Given the description of an element on the screen output the (x, y) to click on. 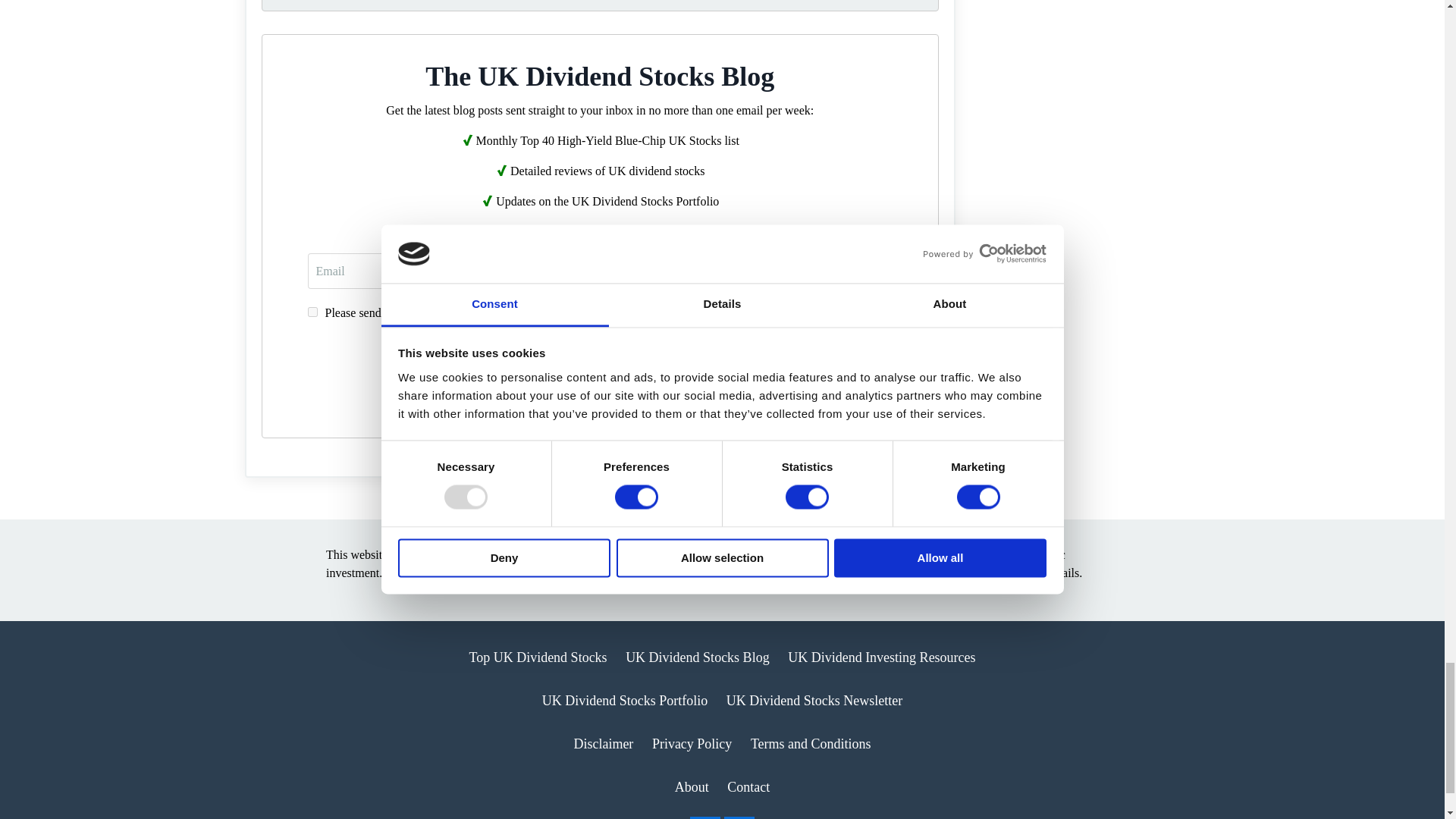
SUBSCRIBE TO THE BLOG (599, 362)
1 (312, 311)
